Given the description of an element on the screen output the (x, y) to click on. 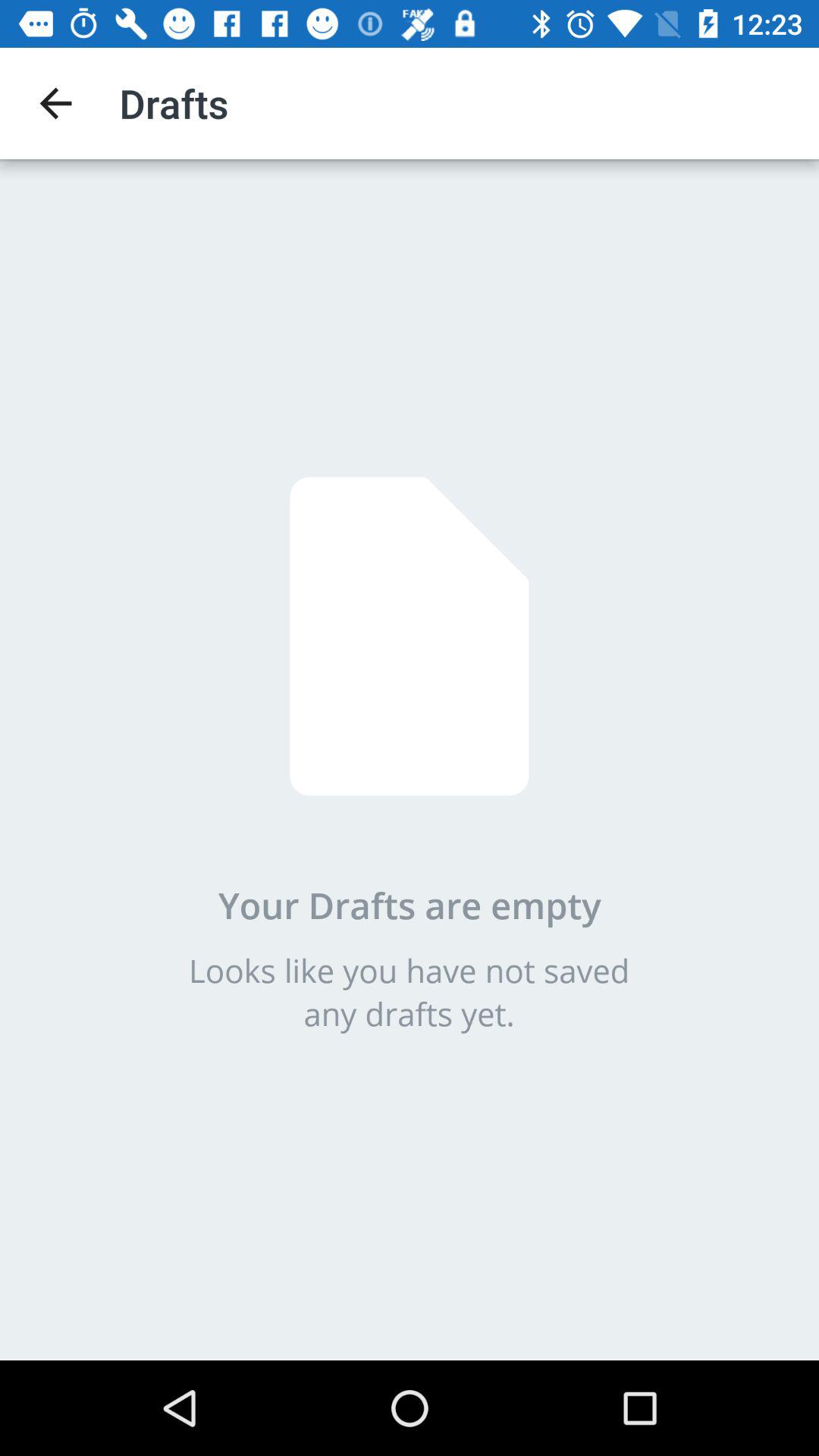
turn off the item next to drafts icon (55, 103)
